Given the description of an element on the screen output the (x, y) to click on. 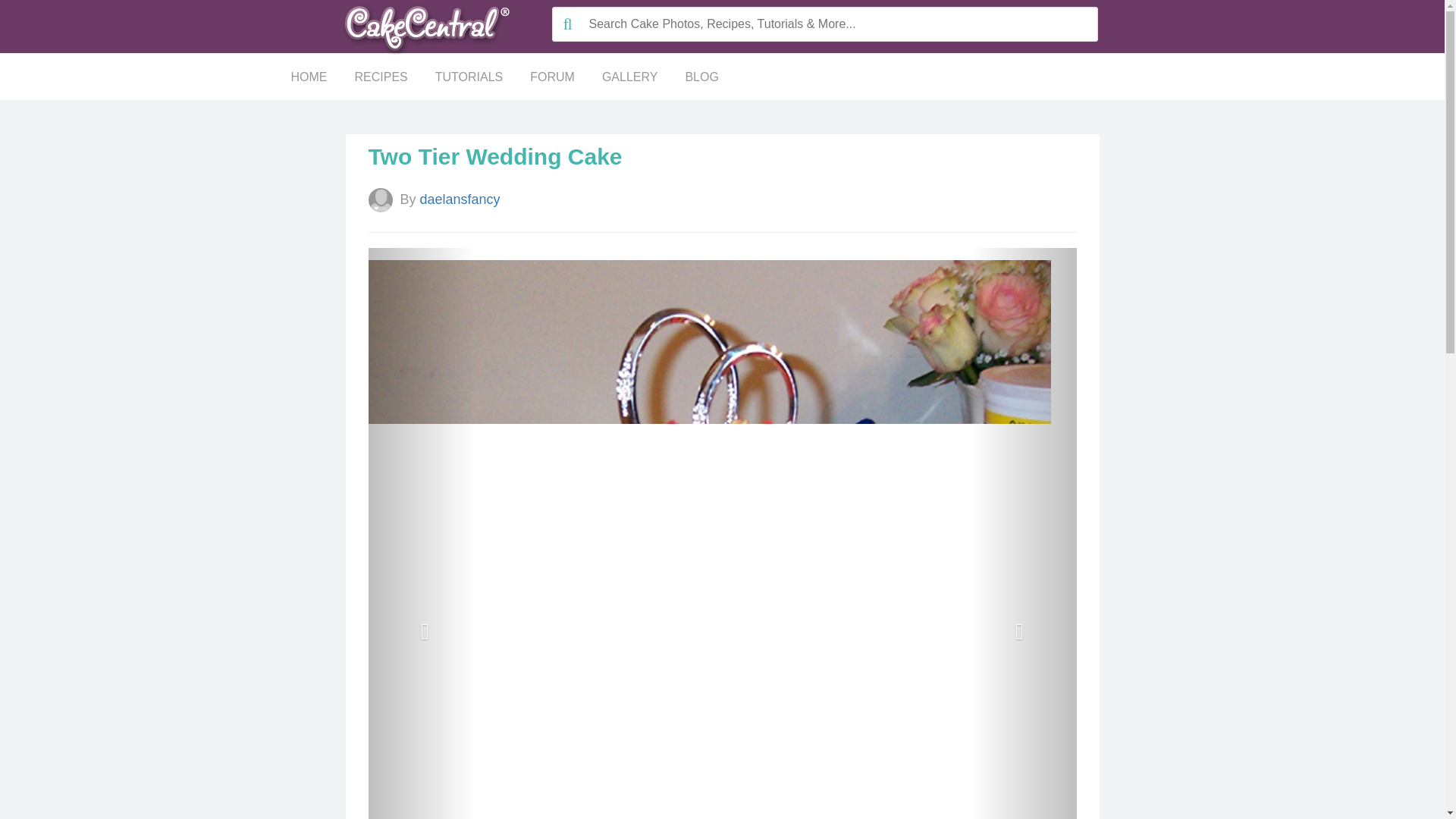
TUTORIALS (469, 76)
RECIPES (381, 76)
GALLERY (629, 76)
daelansfancy (461, 199)
HOME (309, 76)
FORUM (552, 76)
BLOG (701, 76)
Two Tier Wedding Cake (495, 156)
Two Tier Wedding Cake (495, 156)
